Given the description of an element on the screen output the (x, y) to click on. 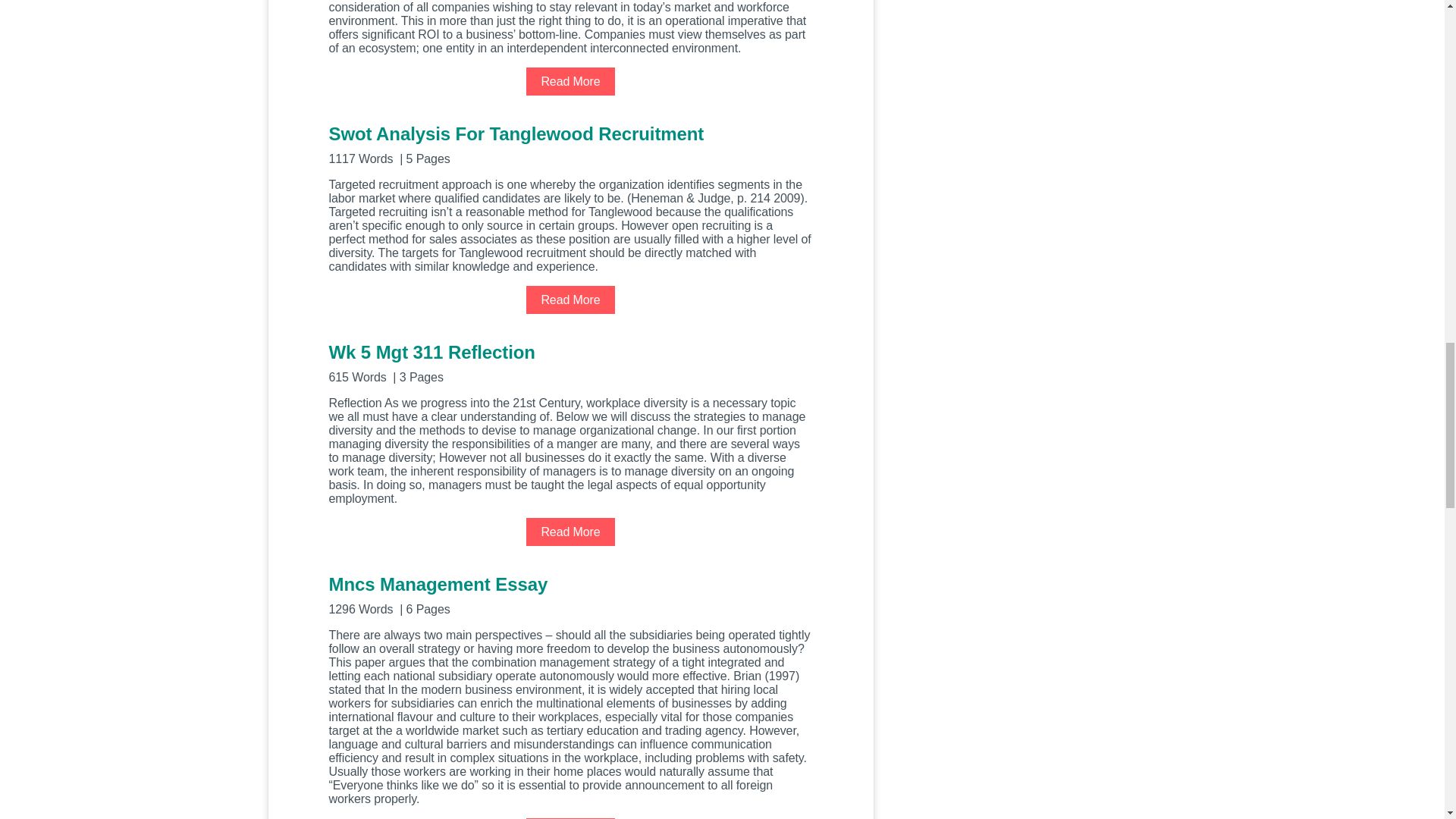
Read More (569, 299)
Swot Analysis For Tanglewood Recruitment (570, 143)
Read More (569, 531)
Mncs Management Essay (570, 593)
Read More (569, 81)
Wk 5 Mgt 311 Reflection (570, 362)
